Given the description of an element on the screen output the (x, y) to click on. 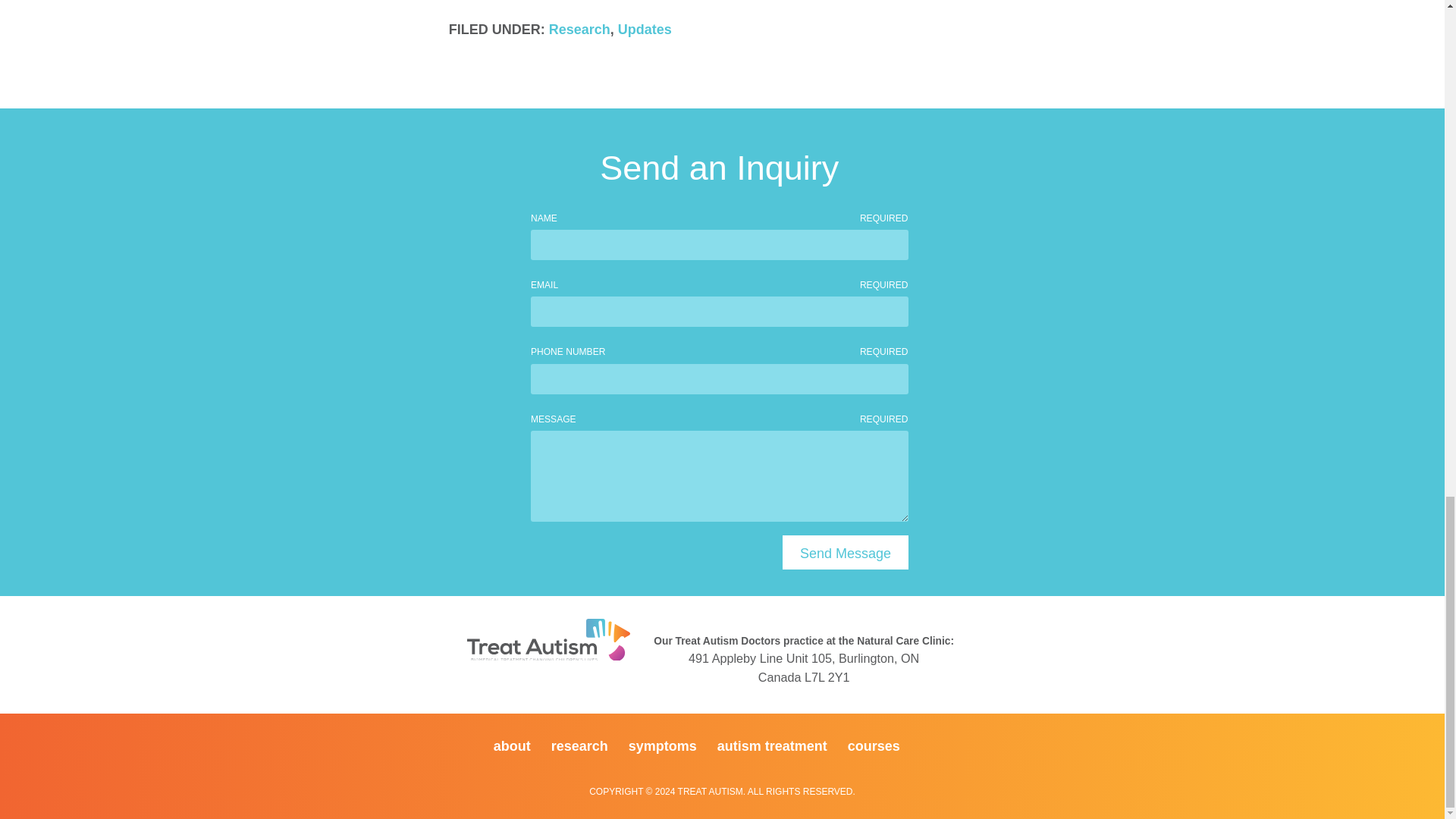
Send Message (845, 552)
logo-footer (548, 639)
